Given the description of an element on the screen output the (x, y) to click on. 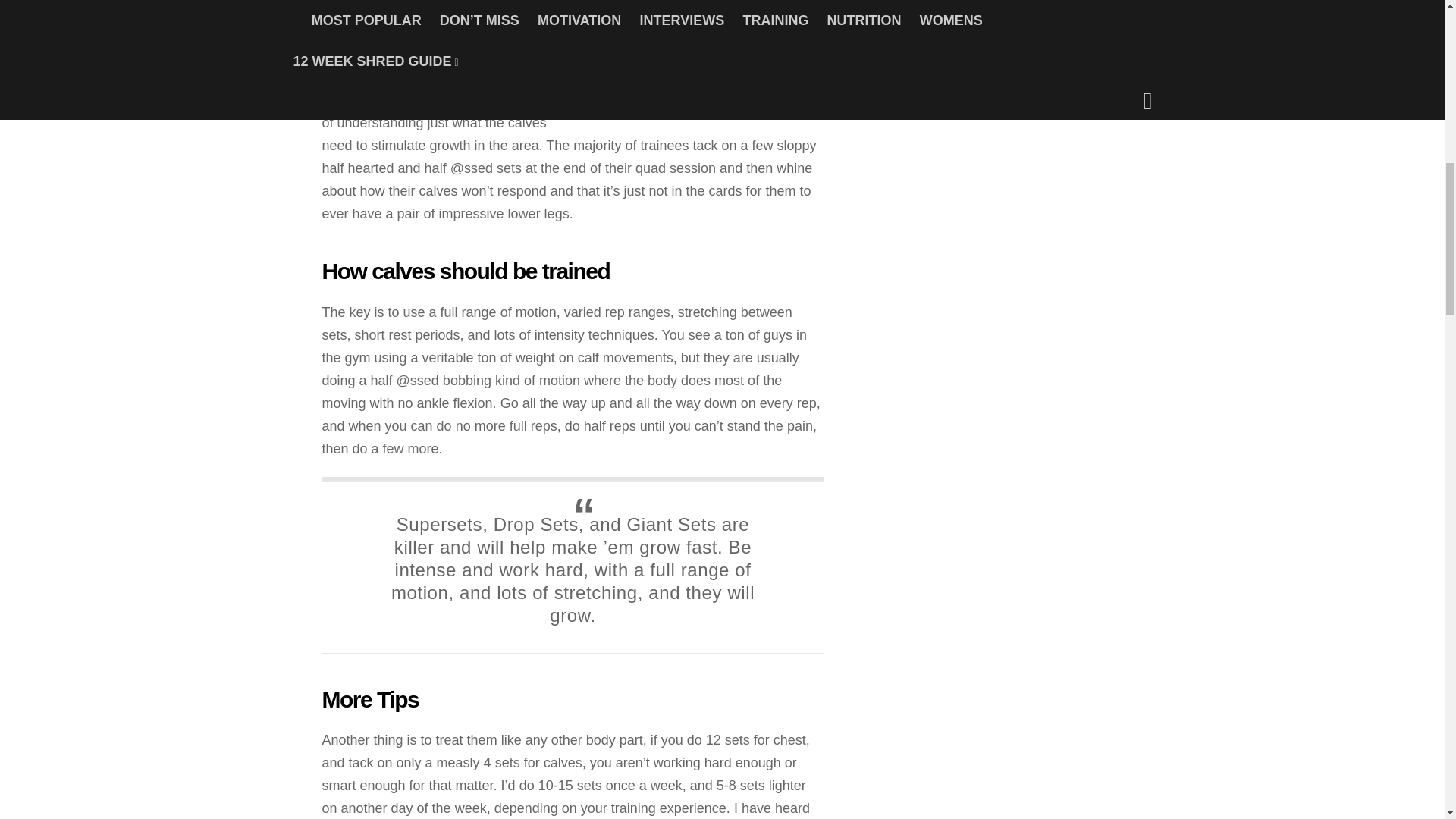
chris-dickerson-calves-1 (709, 59)
